Given the description of an element on the screen output the (x, y) to click on. 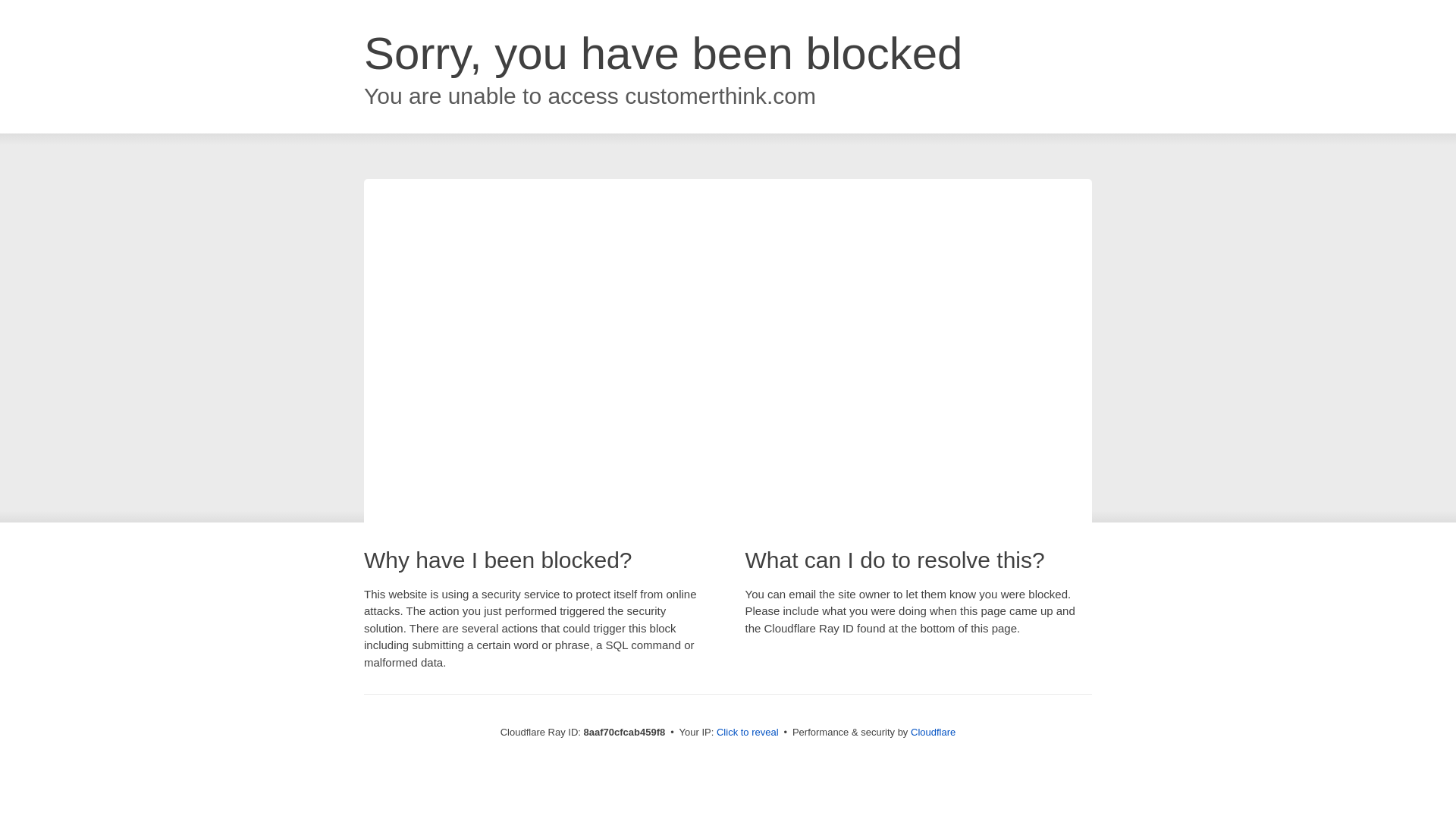
Cloudflare (933, 731)
Click to reveal (747, 732)
